Given the description of an element on the screen output the (x, y) to click on. 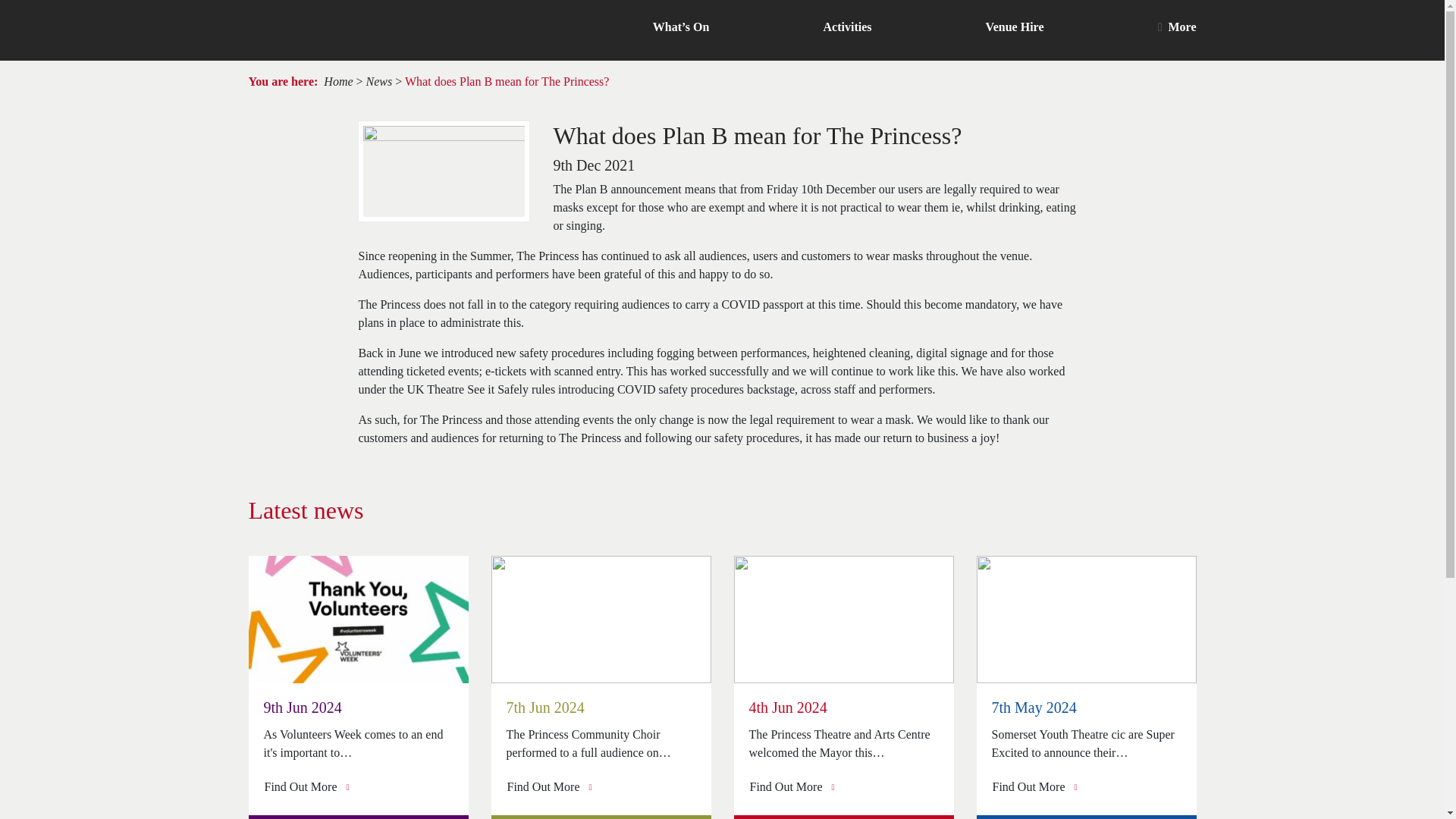
Activities (848, 27)
Venue Hire (1014, 27)
More (1176, 27)
